Given the description of an element on the screen output the (x, y) to click on. 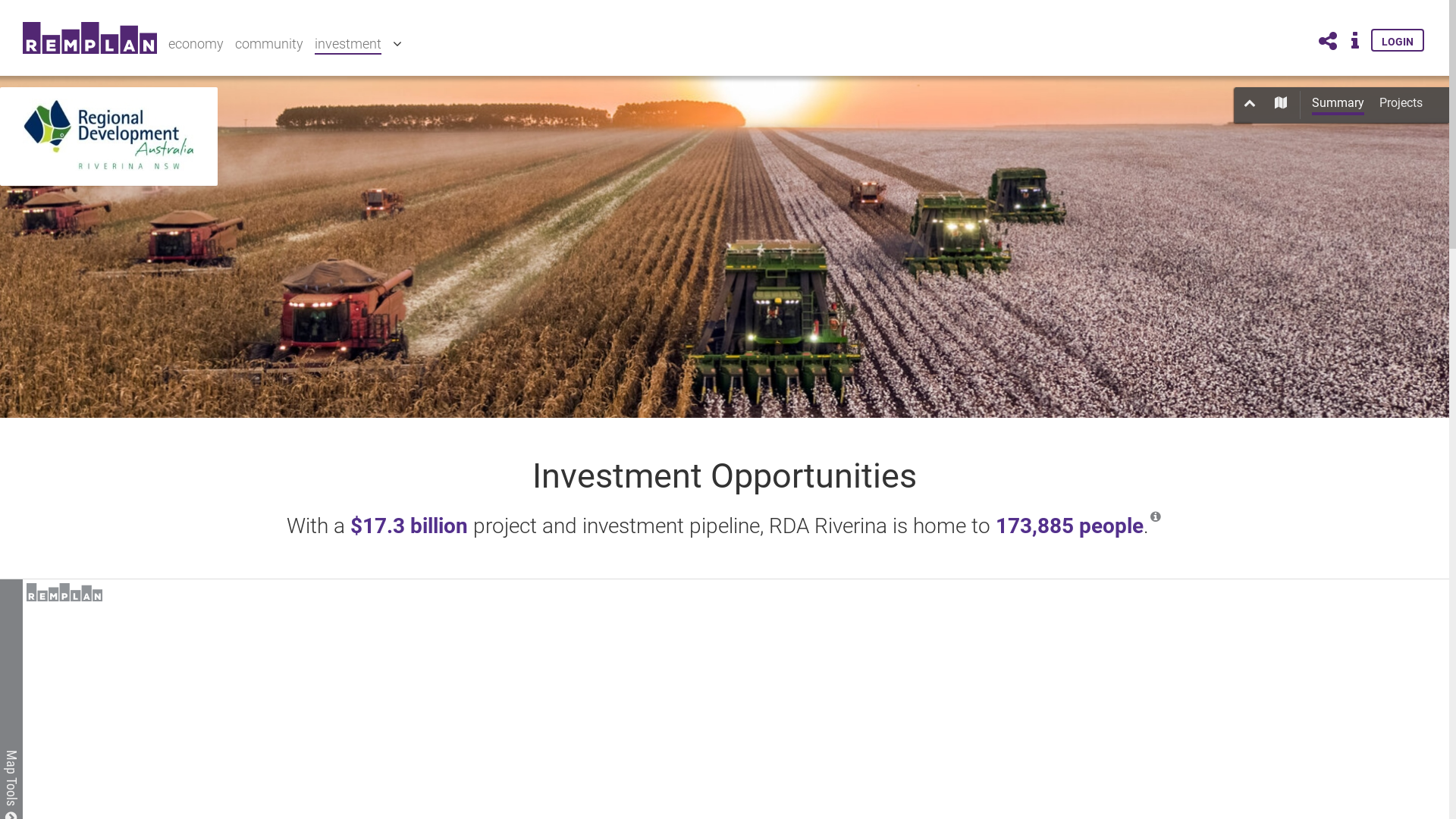
investment Element type: text (347, 44)
Projects Element type: text (1400, 104)
community Element type: text (269, 44)
Summary Element type: text (1337, 104)
Share Element type: hover (1327, 41)
LOGIN Element type: text (1397, 39)
economy Element type: text (195, 44)
